Given the description of an element on the screen output the (x, y) to click on. 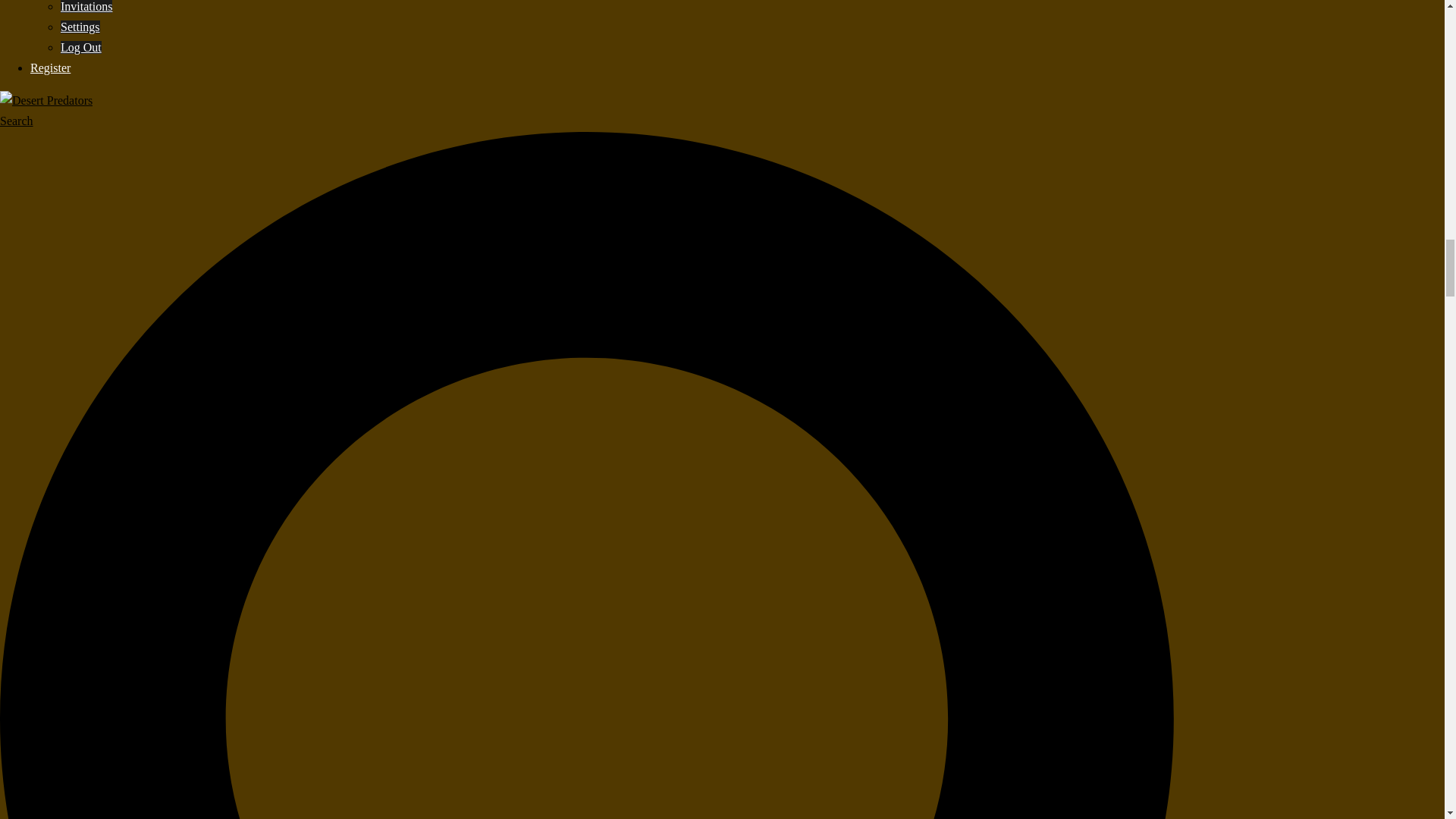
Settings (80, 26)
Register (49, 67)
Log Out (81, 47)
Desert Predators (46, 100)
Invitations (86, 6)
